Given the description of an element on the screen output the (x, y) to click on. 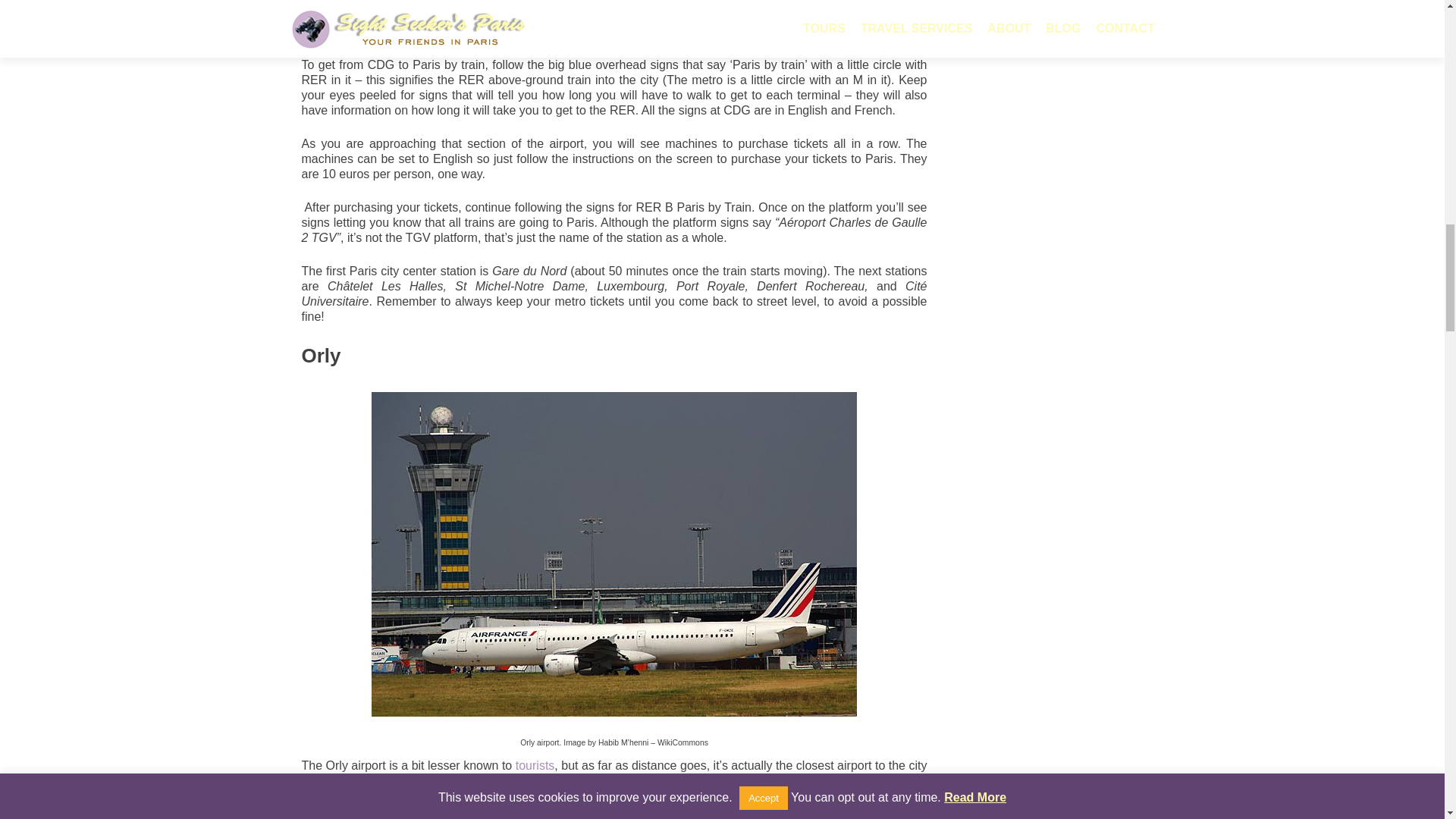
tourists (534, 765)
Airport map  (337, 2)
